Given the description of an element on the screen output the (x, y) to click on. 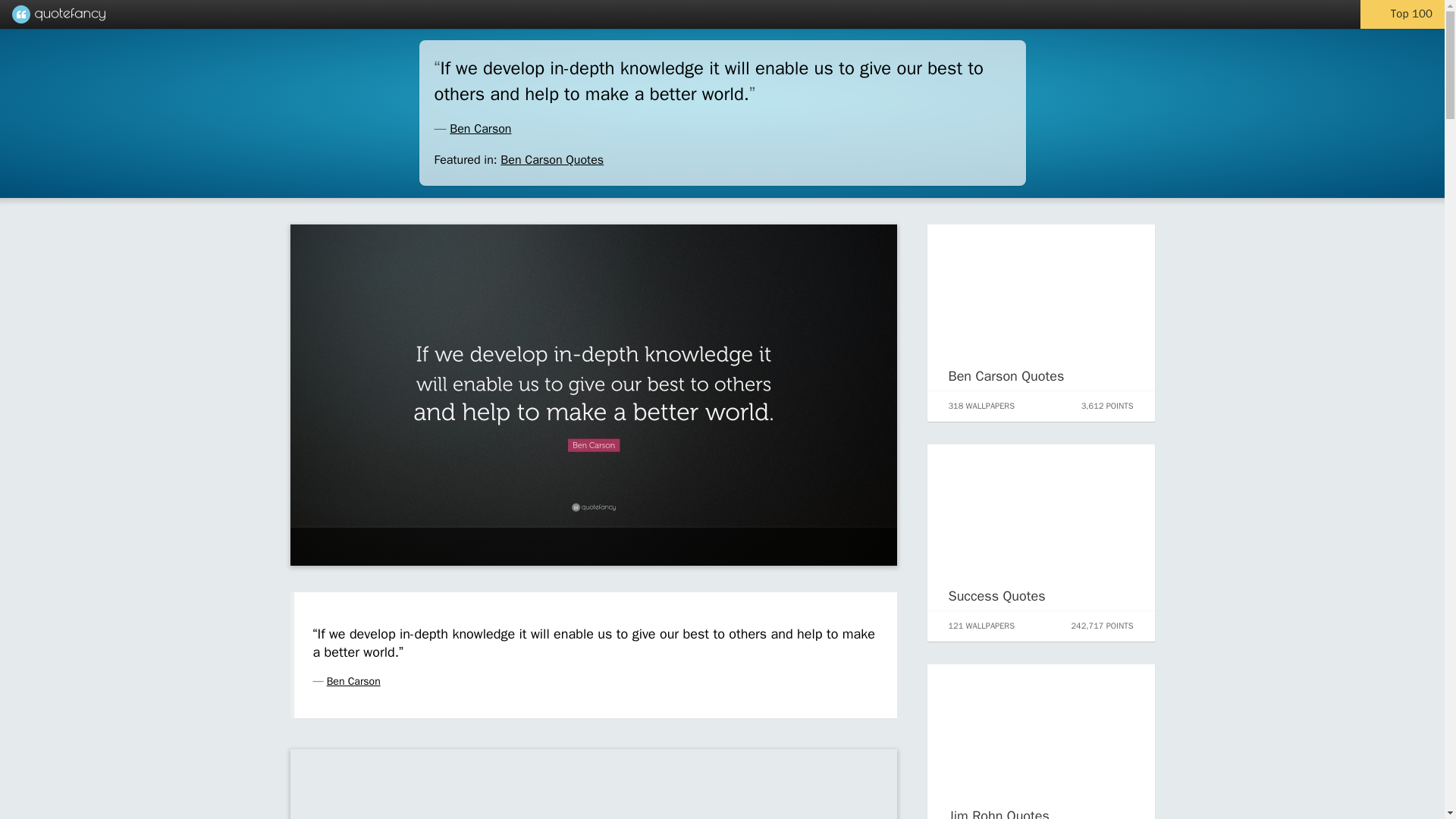
Ben Carson (480, 128)
Ben Carson Quotes (1005, 375)
Success Quotes (996, 596)
Quotefancy (57, 14)
Ben Carson (353, 680)
Jim Rohn Quotes (997, 813)
Ben Carson Quotes (552, 159)
